Given the description of an element on the screen output the (x, y) to click on. 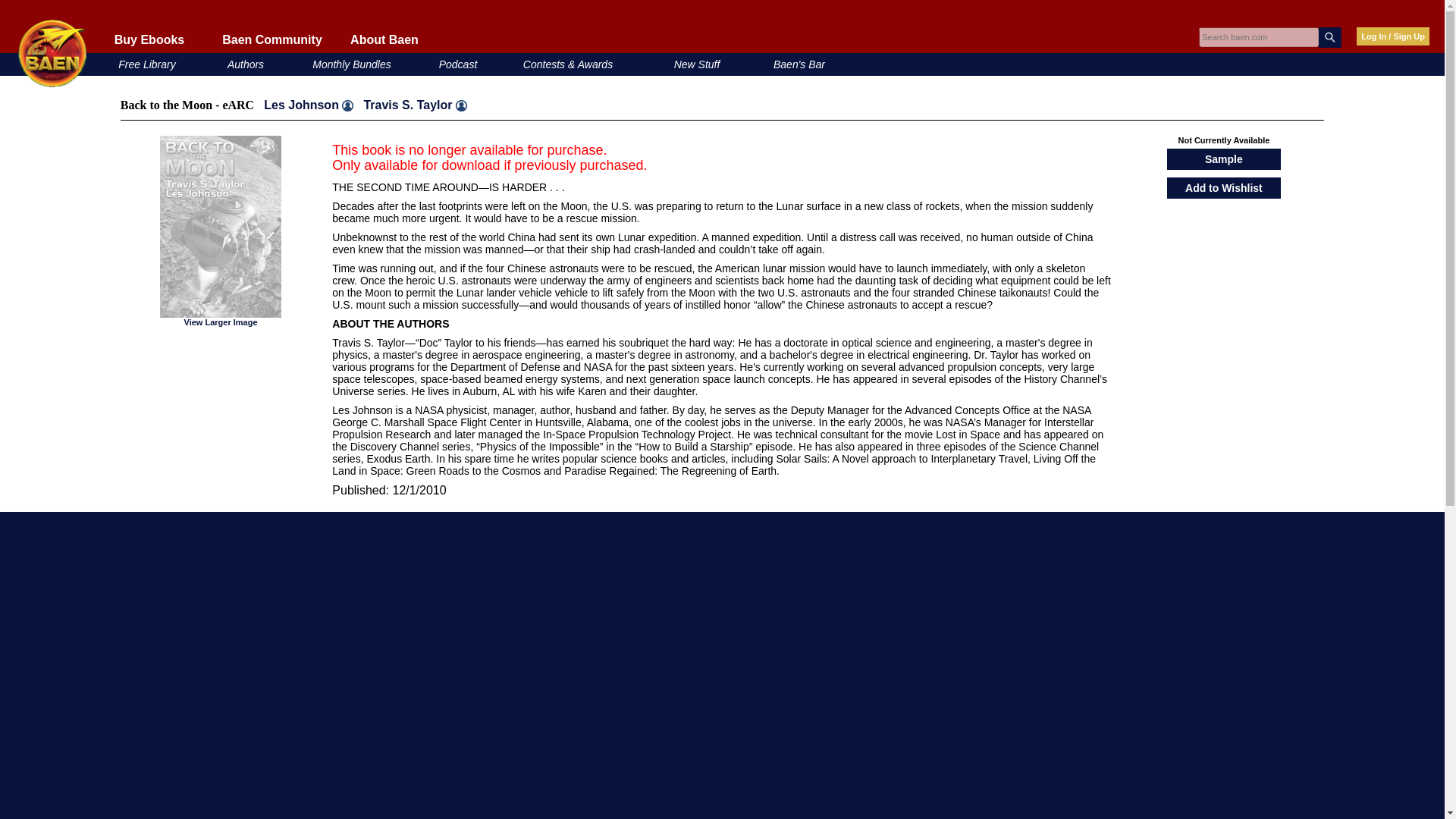
Baen's Bar (799, 64)
Baen Community (272, 40)
About Baen (384, 40)
Authors (245, 64)
New Stuff (697, 64)
Free Library (145, 64)
Podcast (458, 64)
Monthly Bundles (352, 64)
Buy Ebooks (149, 40)
